Given the description of an element on the screen output the (x, y) to click on. 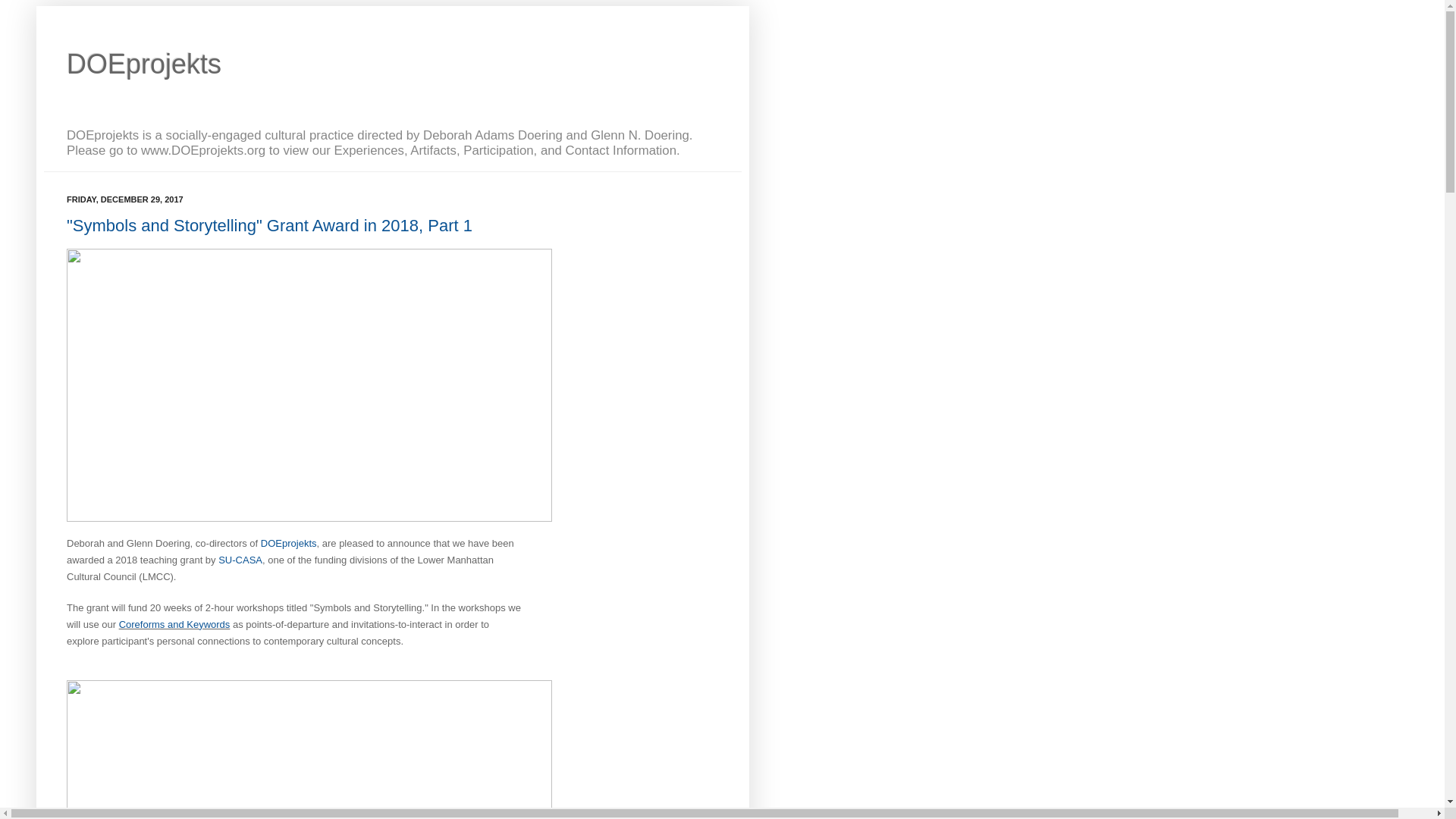
DOEprojekts (288, 542)
"Symbols and Storytelling" Grant Award in 2018, Part 1 (268, 225)
Coreforms and Keywords (174, 624)
SU-CASA (240, 559)
DOEprojekts (143, 63)
